Given the description of an element on the screen output the (x, y) to click on. 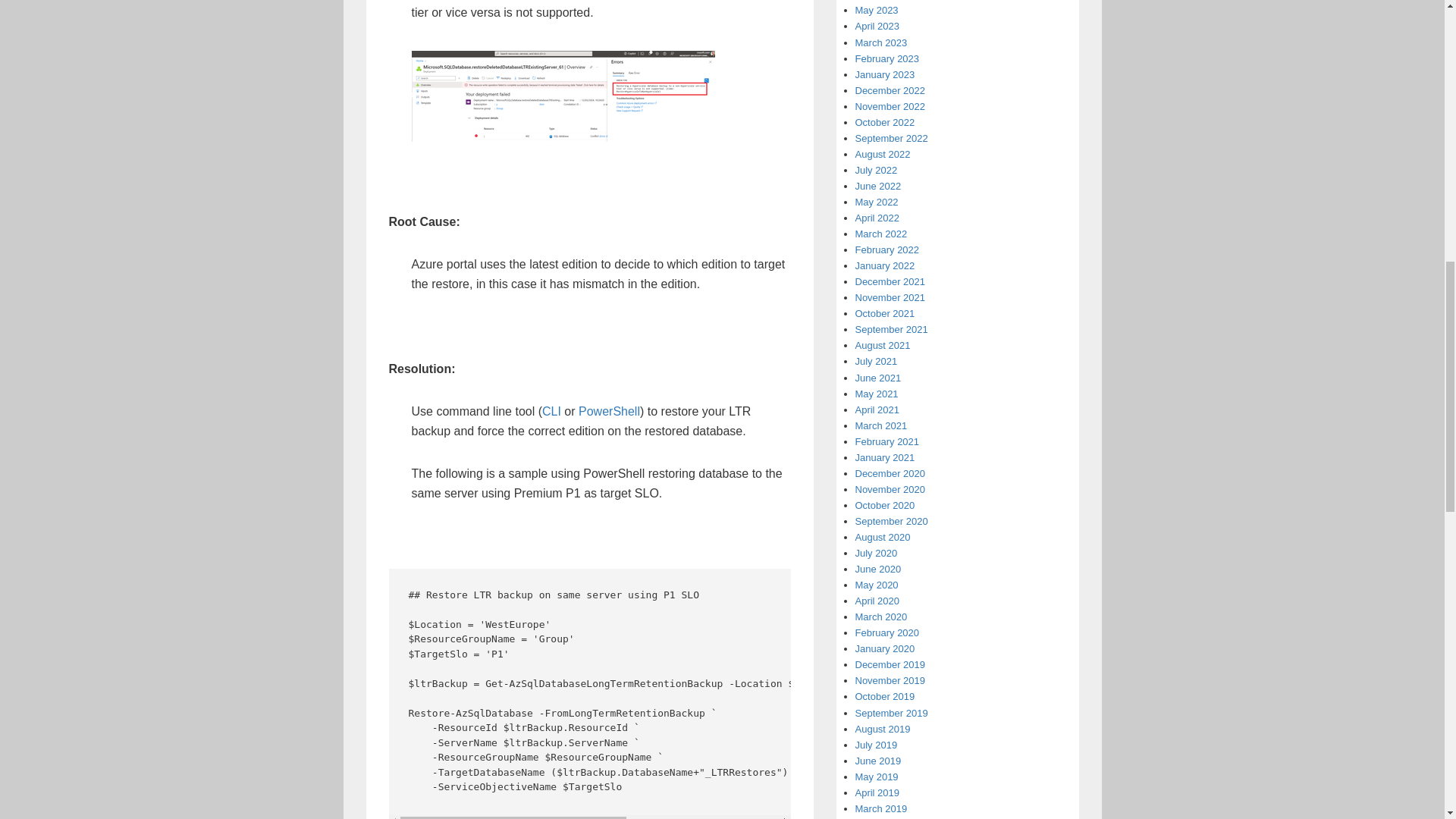
PowerShell (609, 410)
CLI (550, 410)
